Given the description of an element on the screen output the (x, y) to click on. 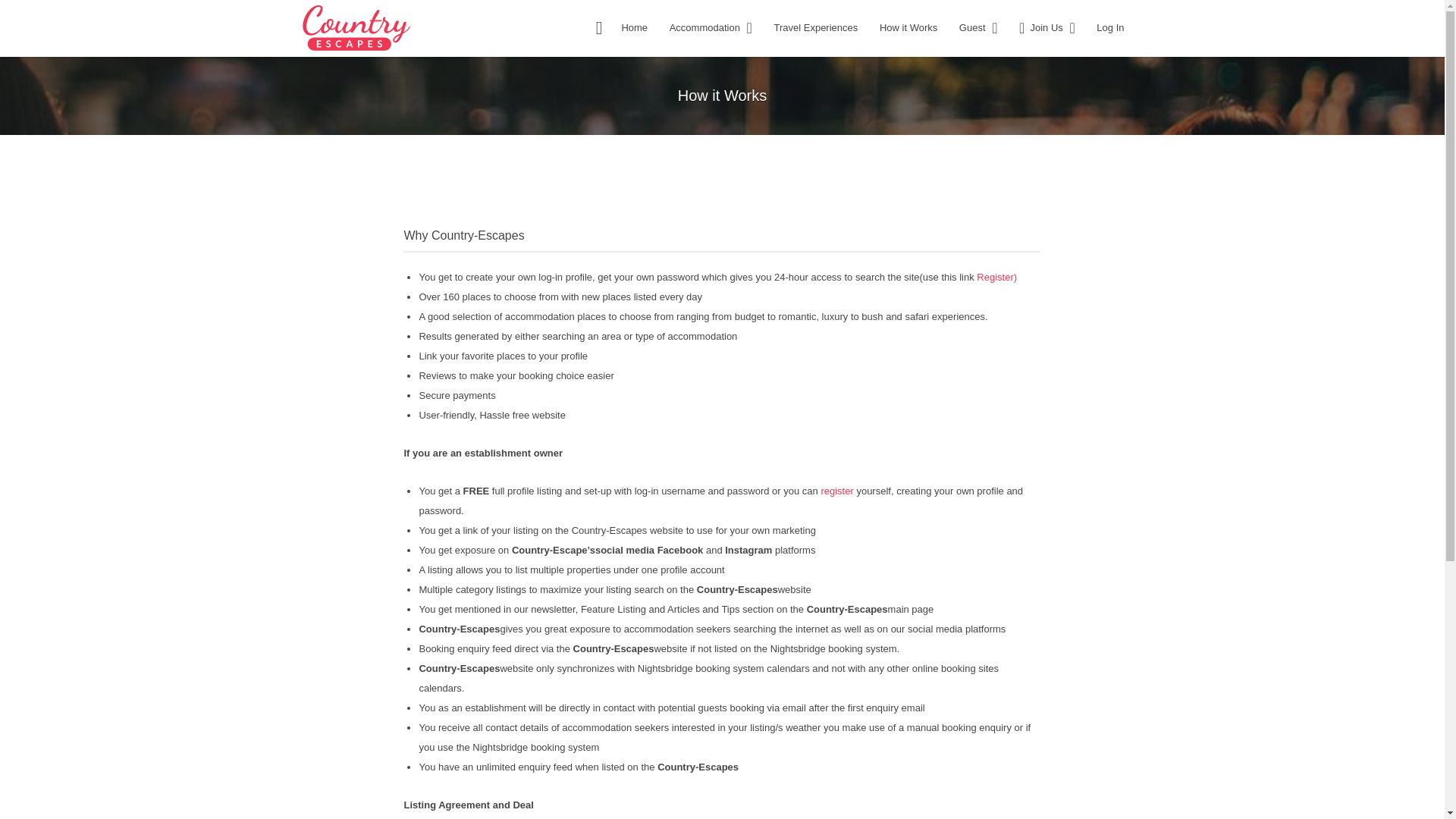
Join Us (1037, 27)
Accommodation (704, 27)
How it Works (908, 27)
Travel Experiences (815, 27)
